Given the description of an element on the screen output the (x, y) to click on. 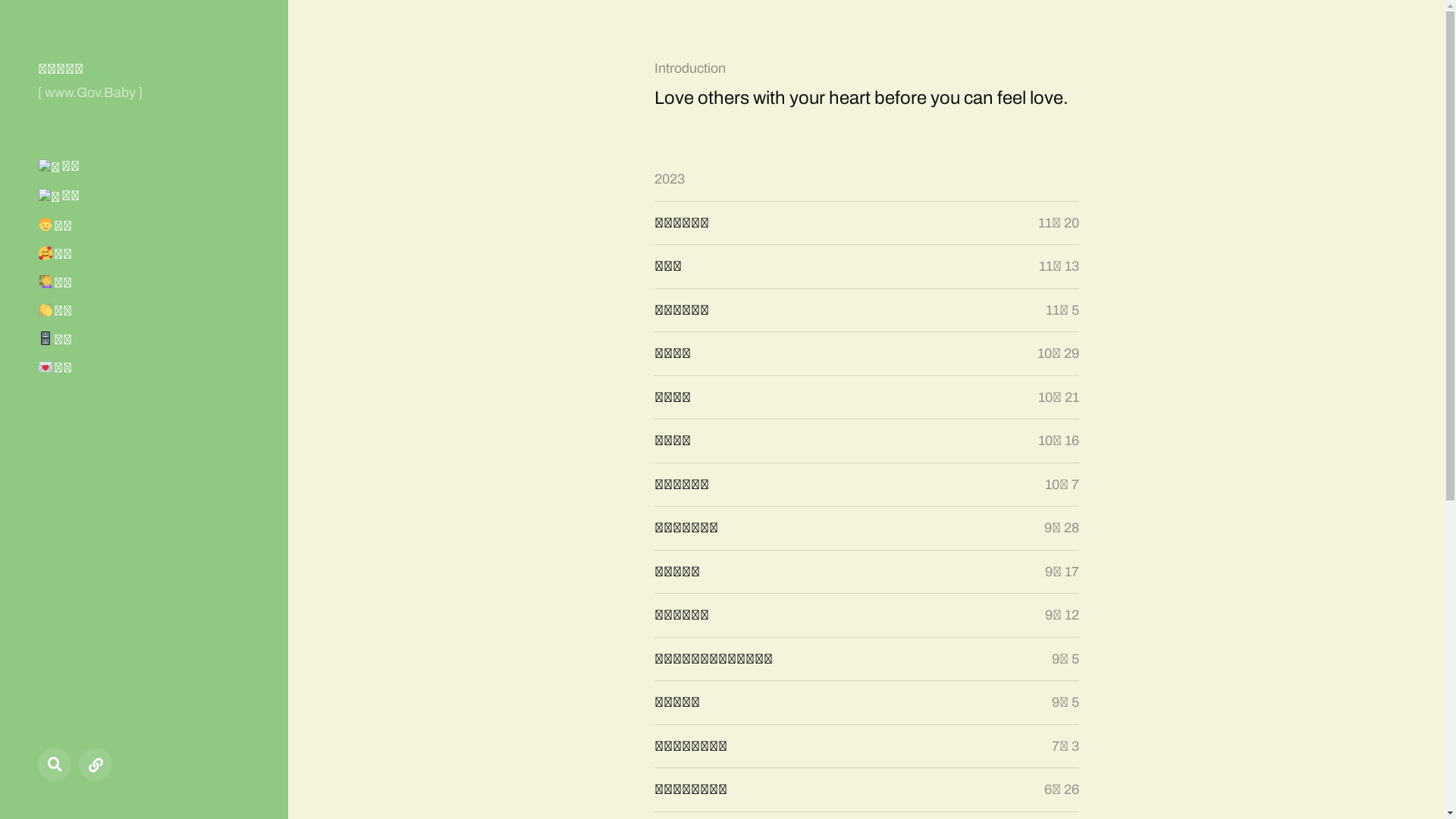
2023 Element type: text (668, 178)
